Given the description of an element on the screen output the (x, y) to click on. 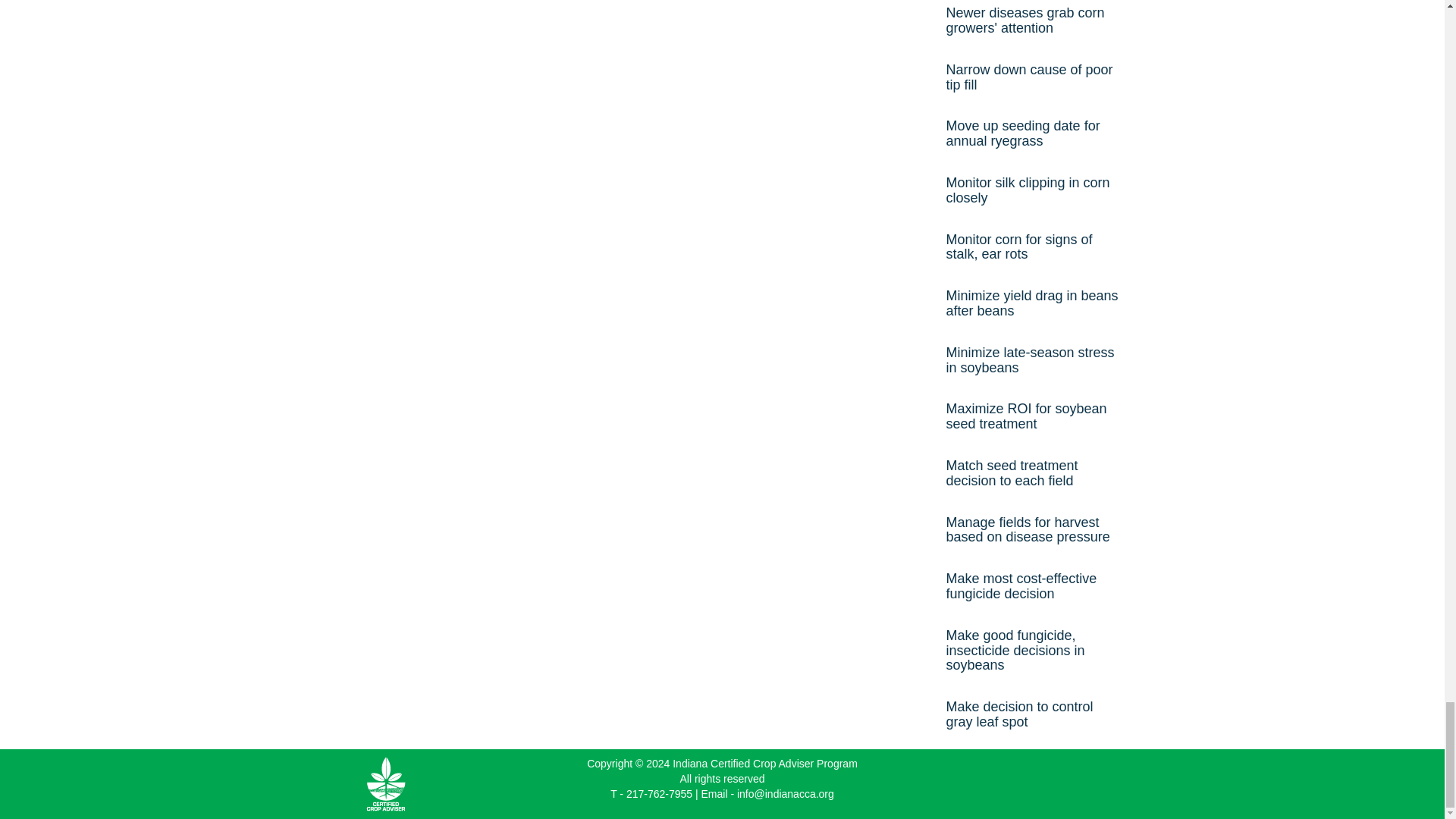
Visit our facebook page (1046, 773)
Visit our twitter page (1062, 773)
